Given the description of an element on the screen output the (x, y) to click on. 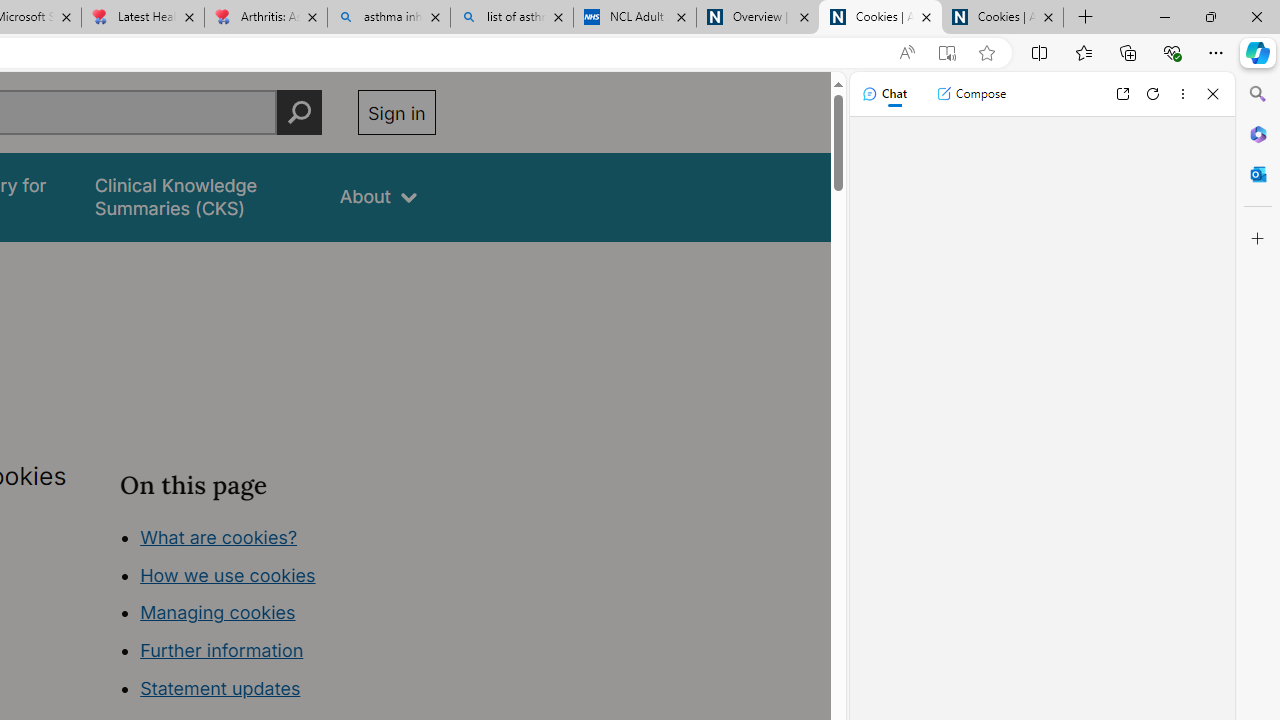
Cookies | About | NICE (1002, 17)
Statement updates (219, 688)
Class: in-page-nav__list (277, 615)
